Given the description of an element on the screen output the (x, y) to click on. 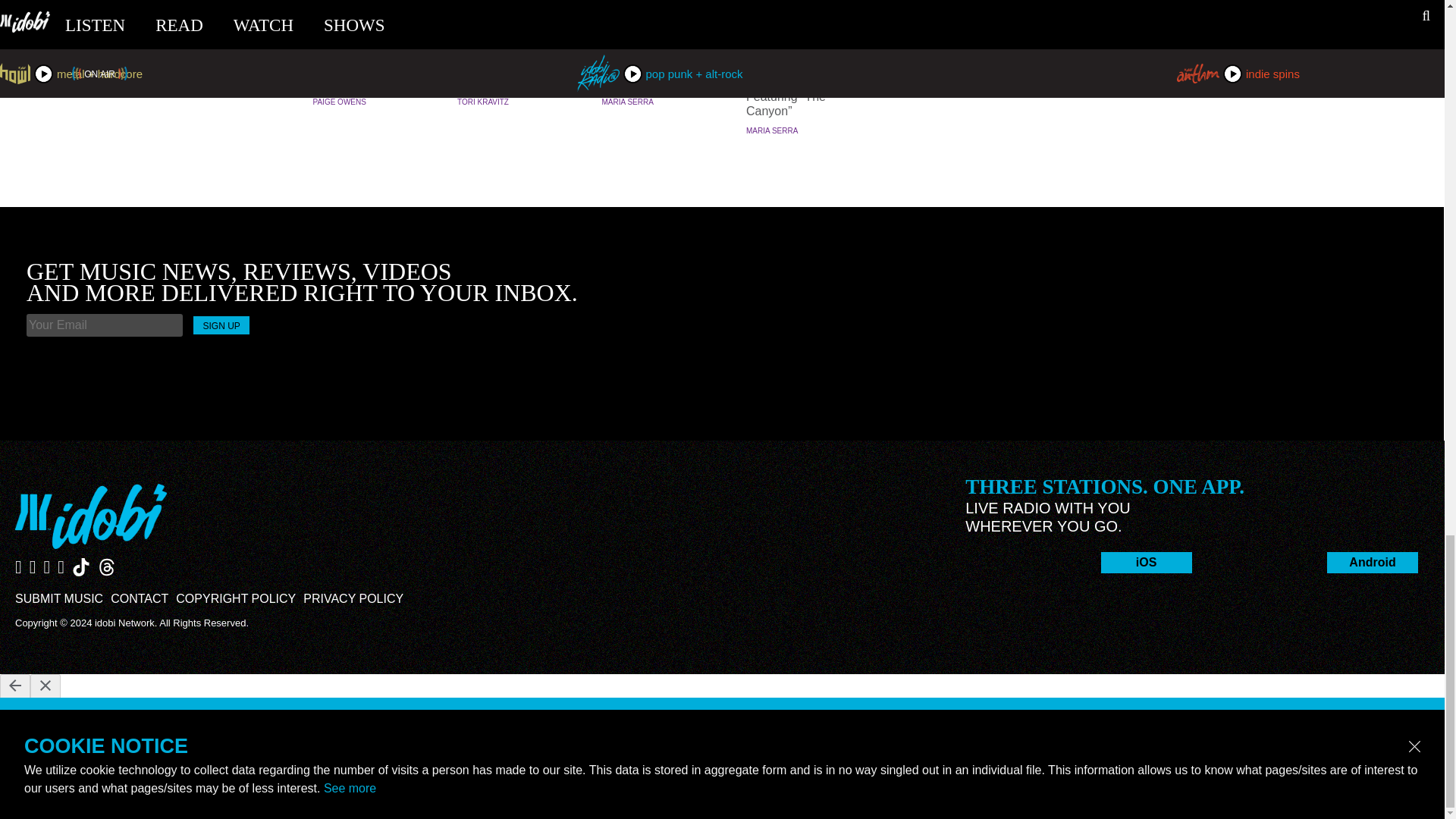
Paige Owens (339, 101)
MARIA SERRA (627, 101)
Maria Serra (771, 130)
Maria Serra (627, 101)
Rain City Drive Announces Massive Headline Fall Tour (659, 67)
FEATURES (514, 36)
NEWS (369, 36)
MARIA SERRA (771, 130)
TORI KRAVITZ (482, 101)
PAIGE OWENS (339, 101)
SIGN UP (220, 325)
Tori Kravitz (482, 101)
NEWS (659, 36)
NEWS (803, 36)
